Given the description of an element on the screen output the (x, y) to click on. 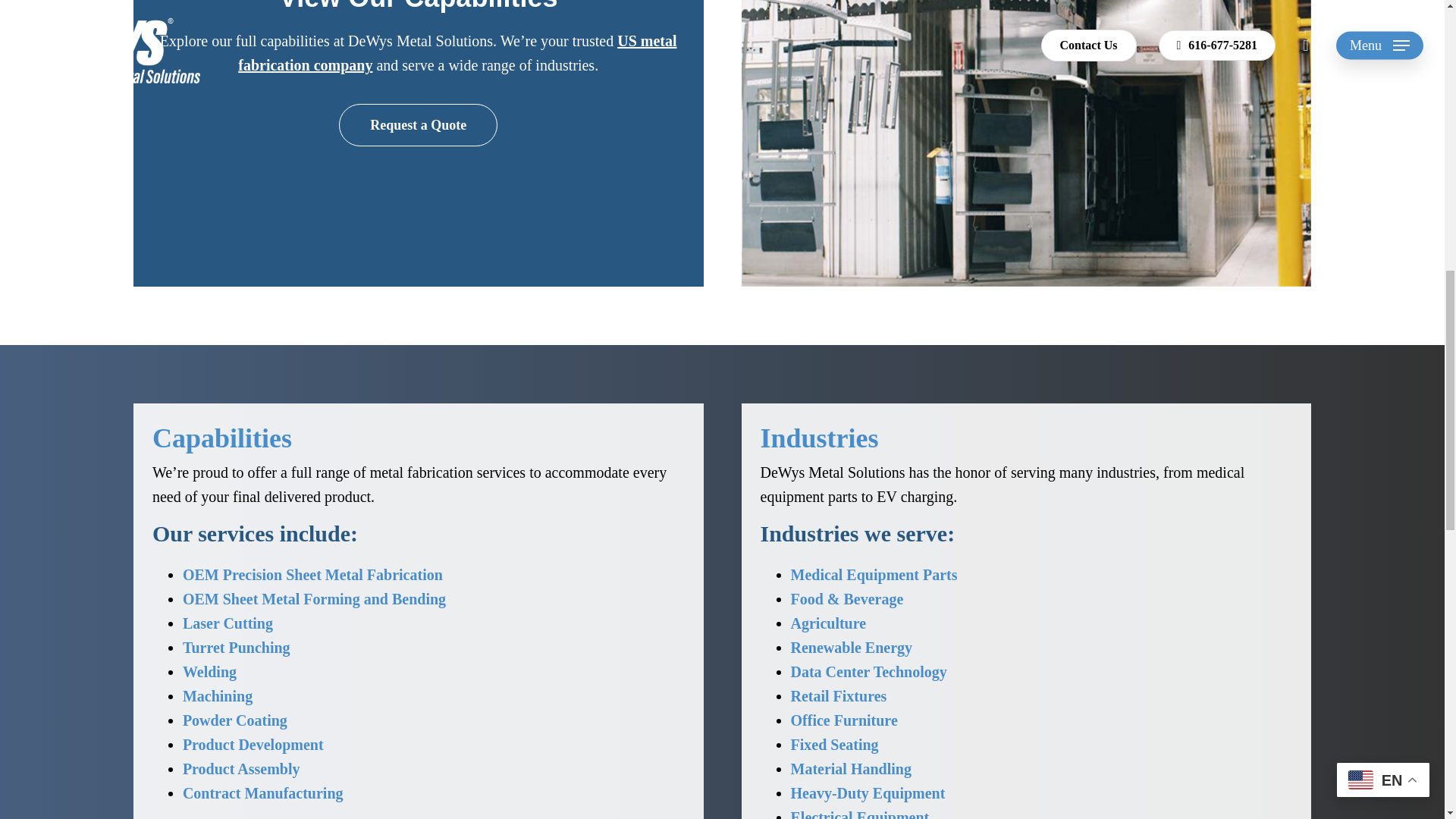
many industries (1107, 472)
Request a Quote (417, 125)
Electrical Equipment (859, 814)
Retail Fixtures (838, 695)
Office Furniture (843, 719)
Industries (818, 438)
metal fabrication services (447, 472)
US metal fabrication company (457, 52)
Medical Equipment Parts (873, 574)
Product Development (253, 744)
Fixed Seating (833, 744)
Welding (209, 671)
Data Center Technology (868, 671)
Material Handling (850, 768)
Contract Manufacturing (263, 792)
